Given the description of an element on the screen output the (x, y) to click on. 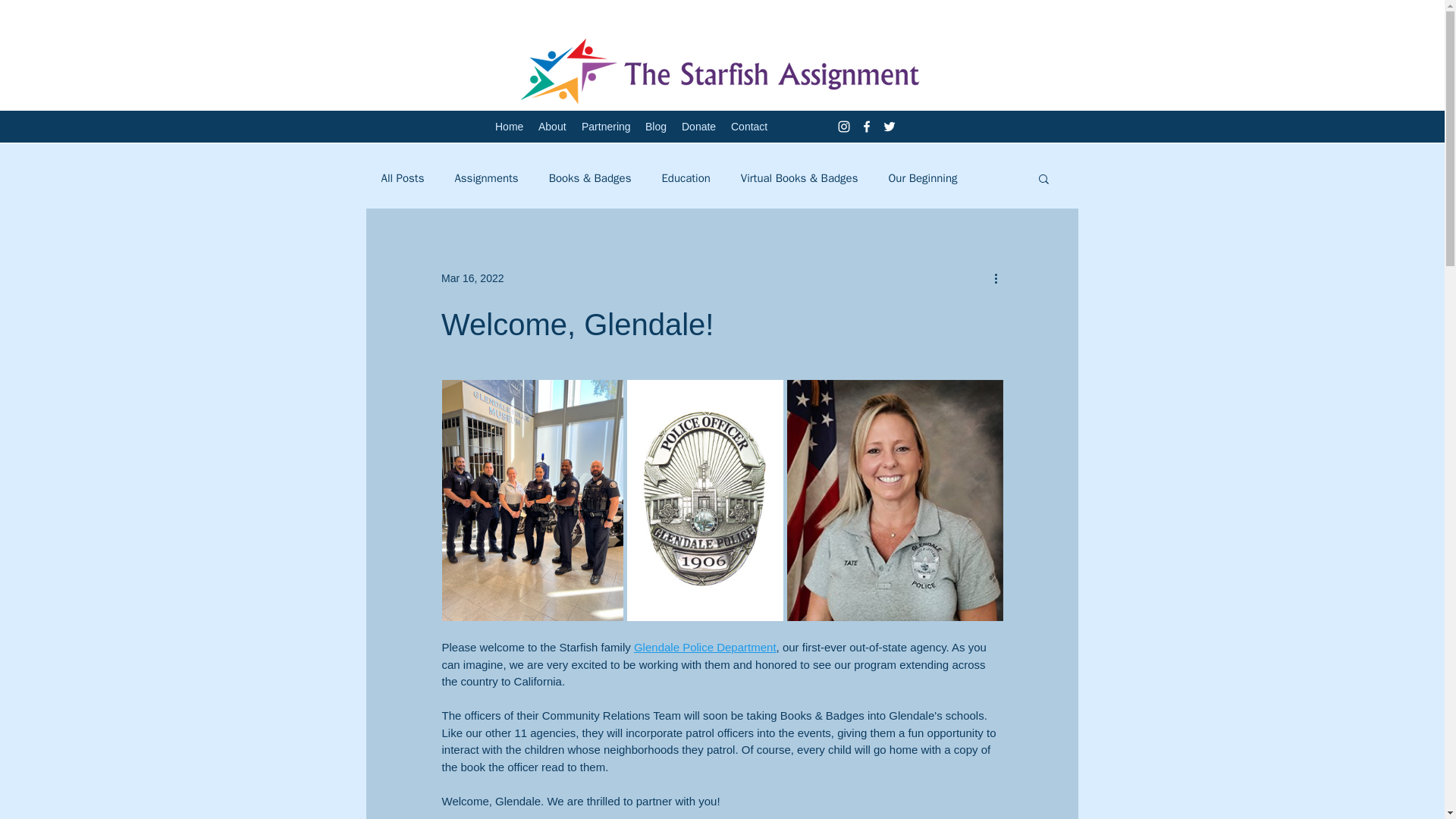
All Posts (401, 178)
Assignments (486, 178)
Home (509, 126)
Blog (655, 126)
About (552, 126)
Partnering (605, 126)
Mar 16, 2022 (472, 277)
Donate (698, 126)
Education (685, 178)
Glendale Police Department (704, 646)
Contact (748, 126)
Our Beginning (922, 178)
